Given the description of an element on the screen output the (x, y) to click on. 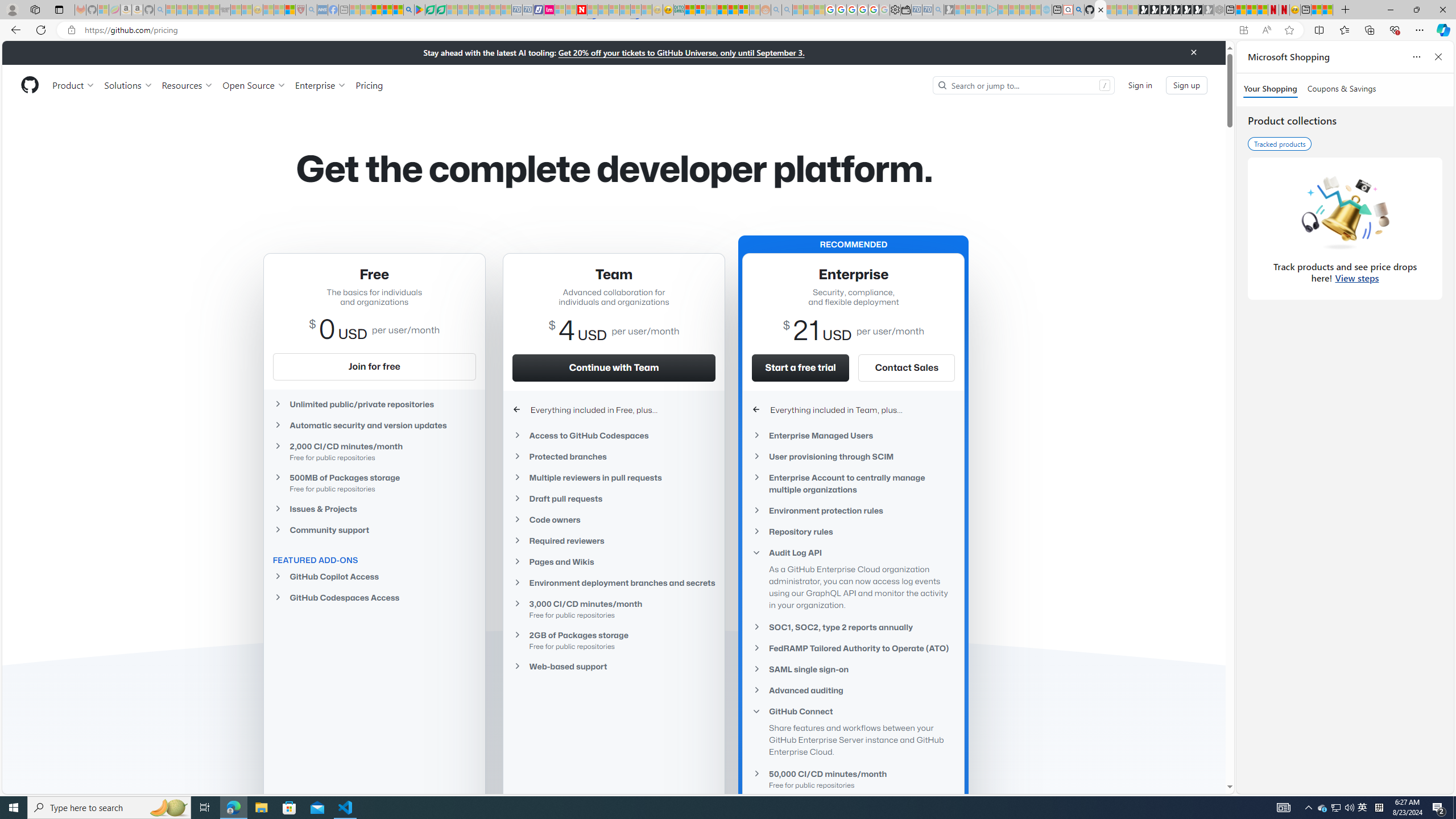
Environment protection rules (853, 510)
Protected branches (614, 456)
Unlimited public/private repositories (374, 404)
Audit Log API (853, 552)
Automatic security and version updates (374, 425)
